Given the description of an element on the screen output the (x, y) to click on. 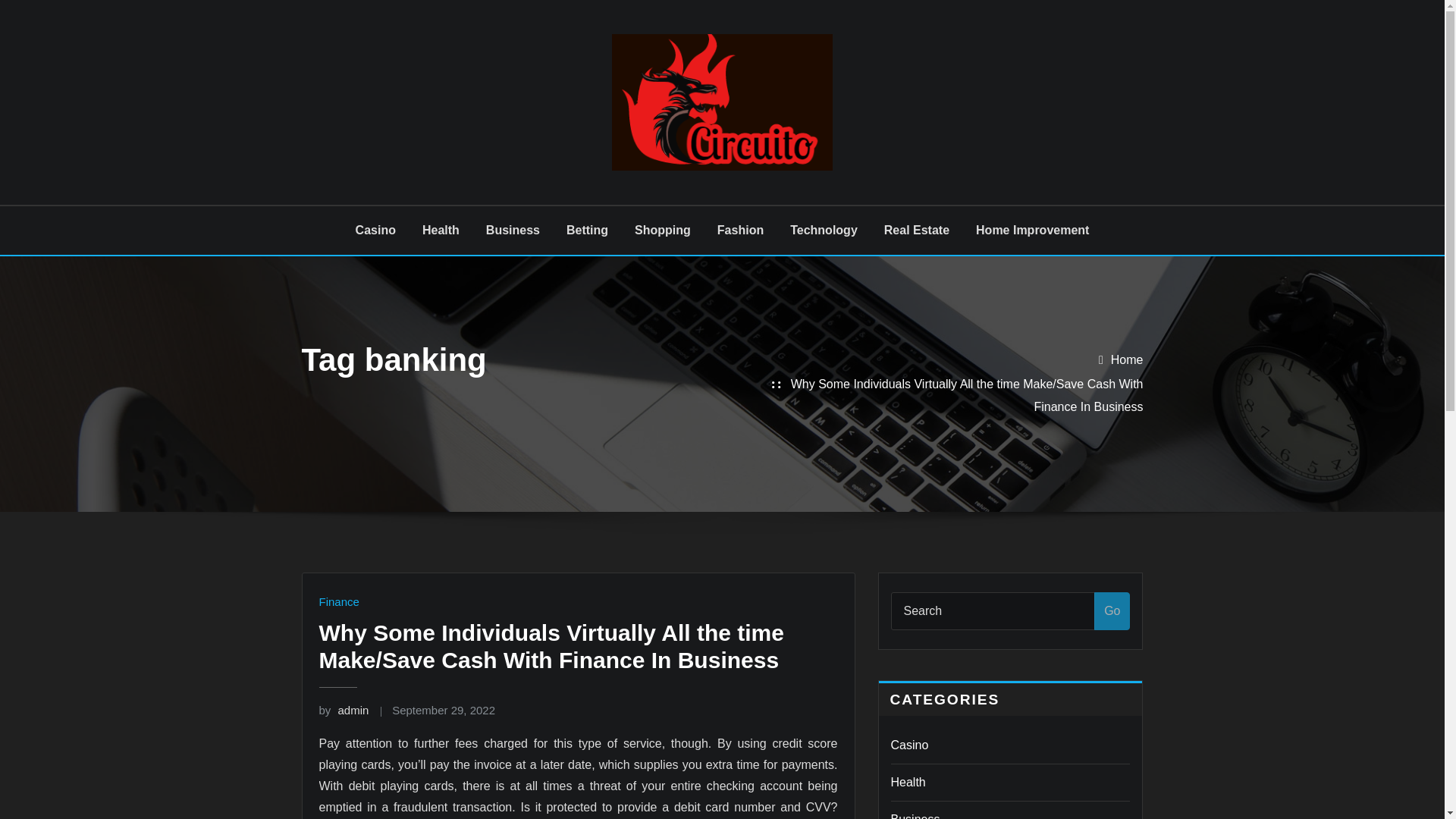
Fashion (739, 230)
Home (1126, 359)
Betting (587, 230)
Go (1111, 610)
Finance (338, 601)
Health (906, 781)
by admin (343, 709)
Shopping (662, 230)
Real Estate (916, 230)
Casino (375, 230)
Business (513, 230)
Health (441, 230)
Business (914, 816)
September 29, 2022 (443, 709)
Home Improvement (1032, 230)
